Given the description of an element on the screen output the (x, y) to click on. 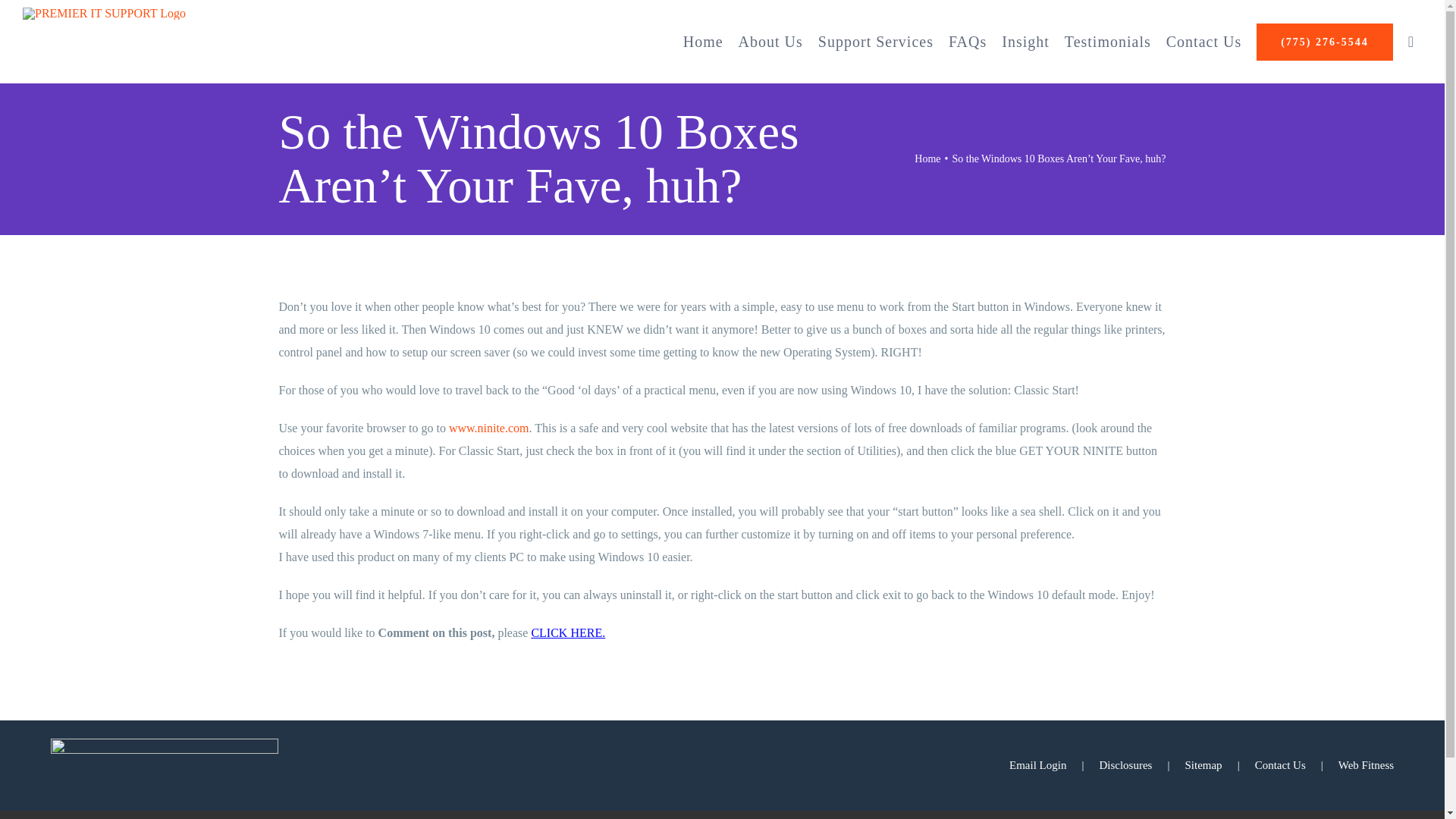
www.ninite.com (488, 427)
About Us (770, 41)
Home (927, 158)
Web Fitness (1365, 764)
Email Login (1054, 764)
Testimonials (1107, 41)
Insight (1025, 41)
Contact Us (1203, 41)
Contact Us (1296, 764)
Sitemap (1219, 764)
Support Services (875, 41)
Disclosures (1142, 764)
CLICK HERE. (568, 632)
